Given the description of an element on the screen output the (x, y) to click on. 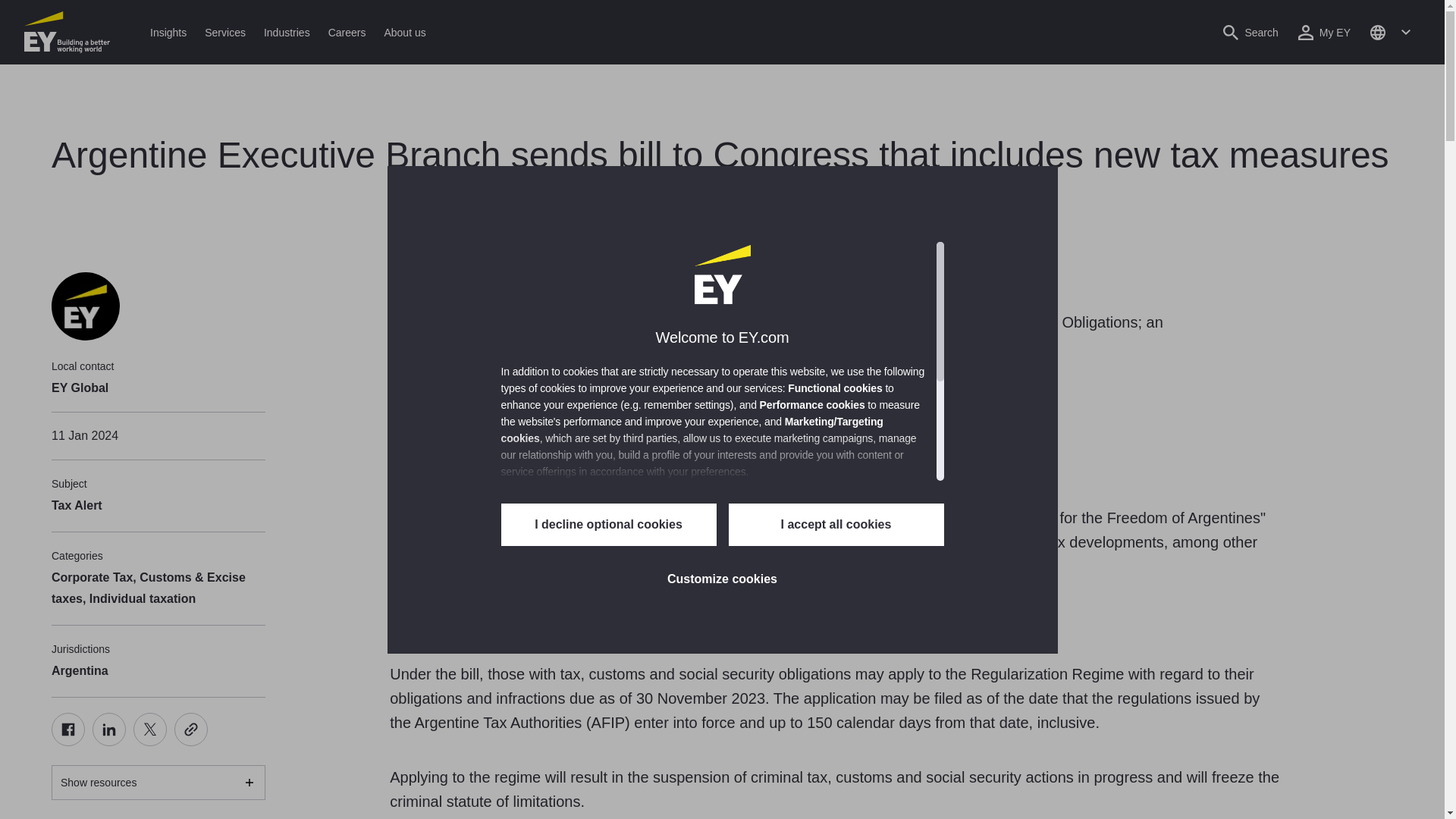
Social Media Share (129, 729)
Open search (1250, 32)
Copy link (191, 729)
My EY (1324, 32)
EY Homepage (67, 32)
Linkedin (109, 729)
Facebook (67, 729)
EY Global (84, 305)
